Given the description of an element on the screen output the (x, y) to click on. 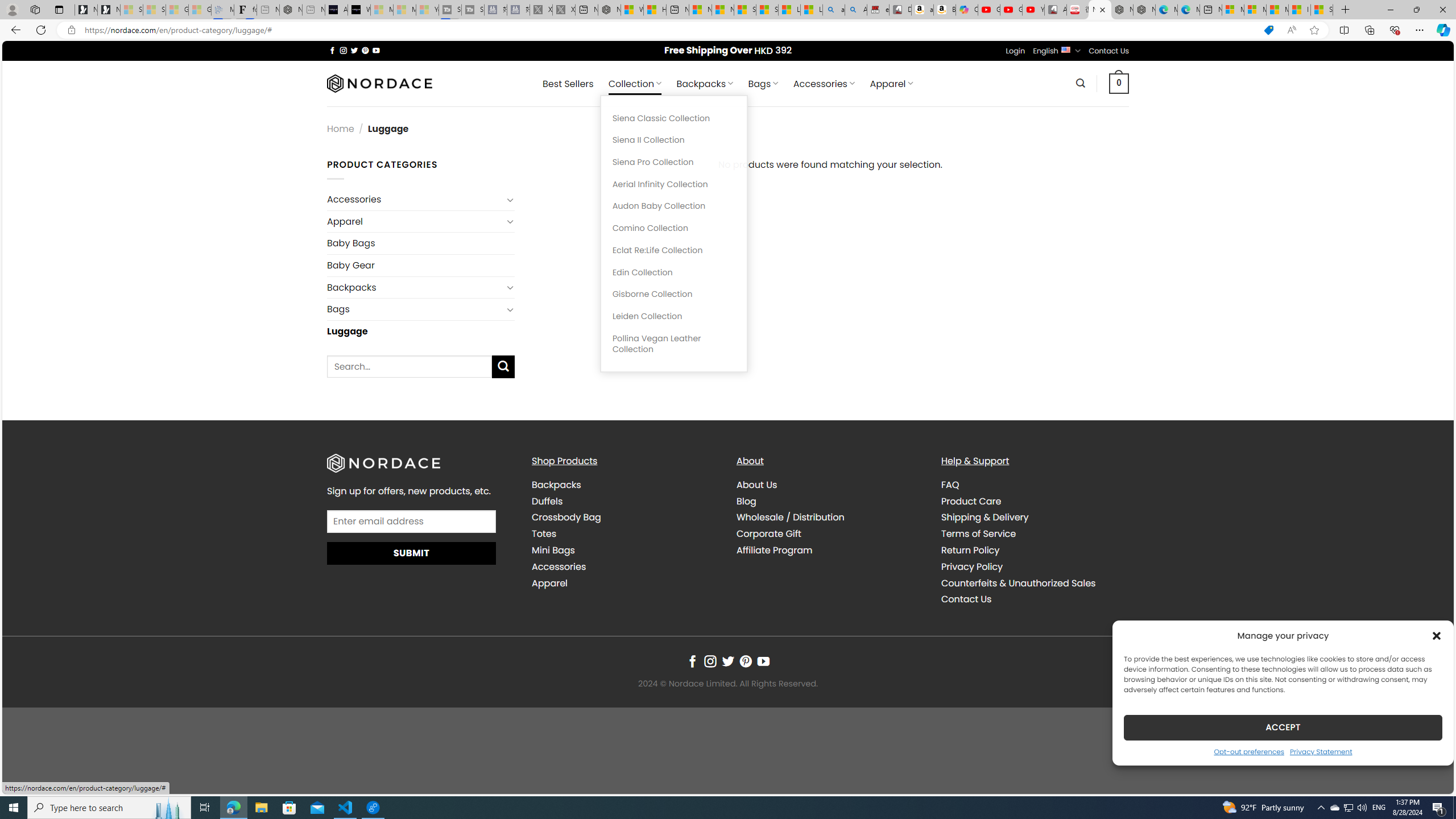
Affiliate Program (774, 550)
Gisborne Collection (672, 294)
Comino Collection (672, 228)
Nordace (379, 83)
Newsletter Sign Up (109, 9)
amazon.in/dp/B0CX59H5W7/?tag=gsmcom05-21 (923, 9)
